Given the description of an element on the screen output the (x, y) to click on. 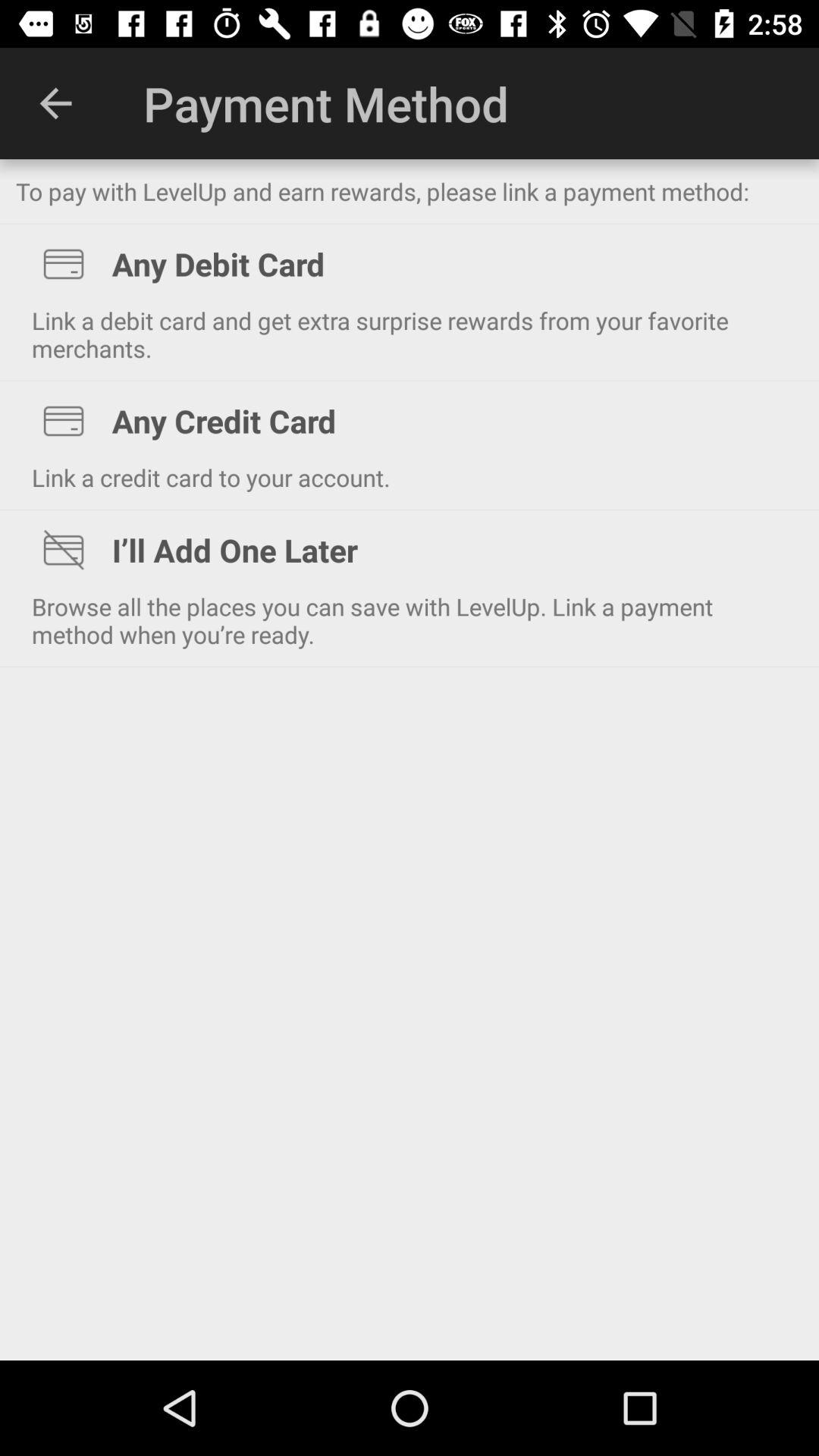
press the item at the top left corner (55, 103)
